Given the description of an element on the screen output the (x, y) to click on. 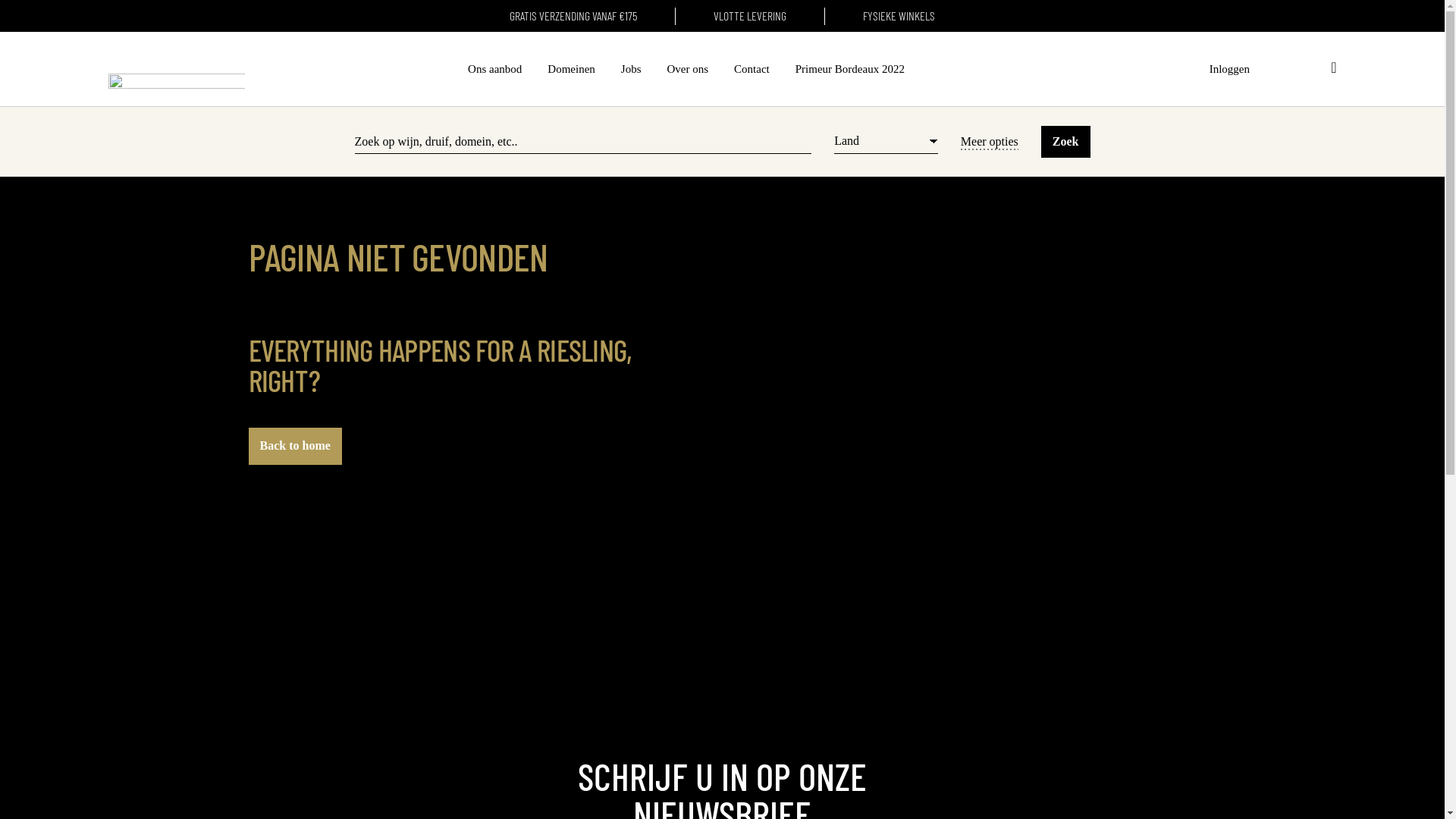
Ons aanbod Element type: text (494, 68)
Contact Element type: text (751, 68)
Inloggen Element type: text (1229, 68)
Winkelwagen Element type: text (1333, 68)
Jobs Element type: text (630, 68)
Over ons Element type: text (688, 68)
Zoek Element type: text (1065, 141)
Domeinen Element type: text (570, 68)
Meer opties Element type: text (989, 141)
Back to home Element type: text (295, 445)
Primeur Bordeaux 2022 Element type: text (849, 68)
